Given the description of an element on the screen output the (x, y) to click on. 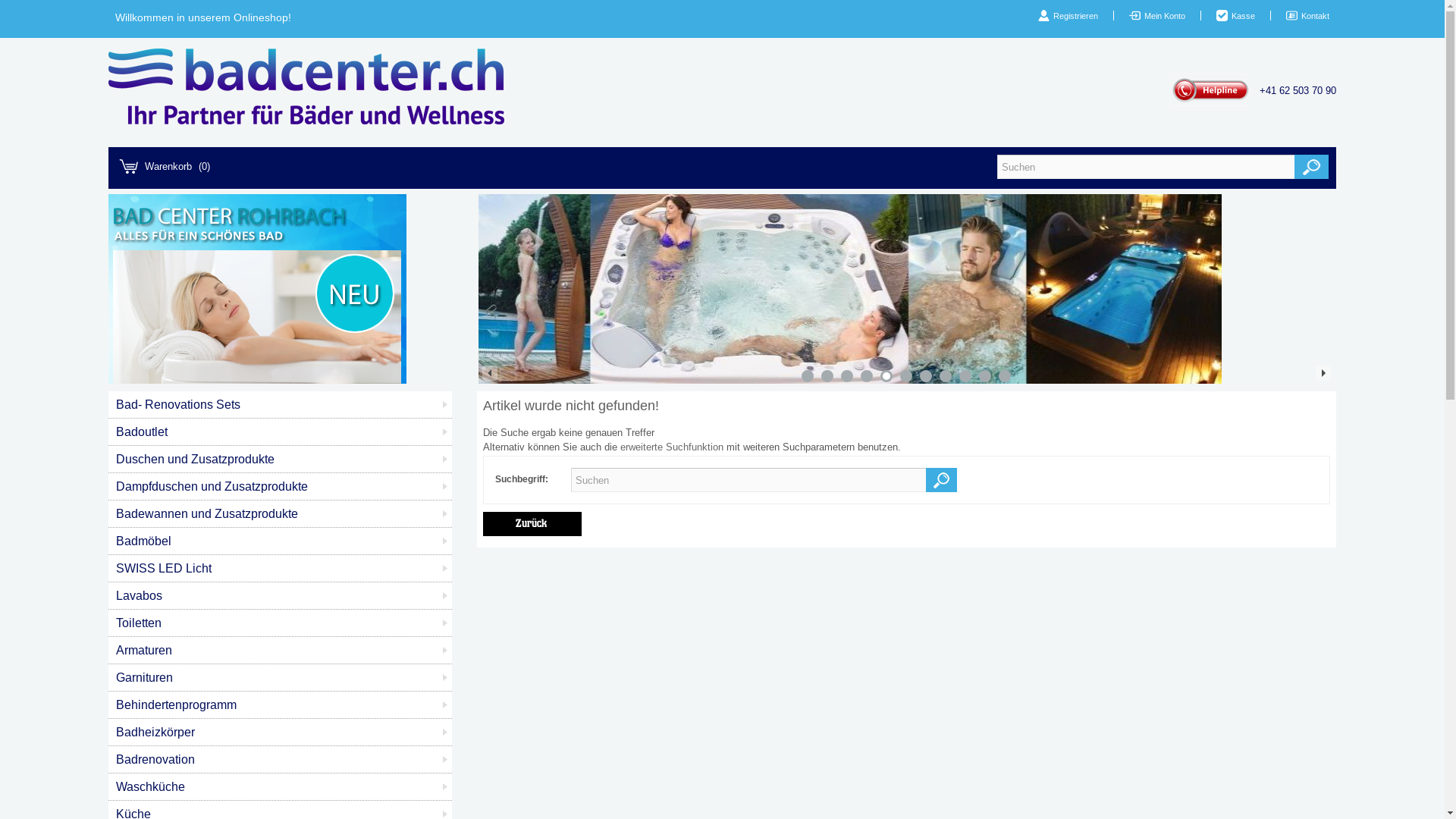
Behindertenprogramm Element type: text (279, 704)
Registrieren Element type: text (1075, 15)
3 Element type: text (846, 376)
Mein Konto Element type: text (1164, 15)
Garnituren Element type: text (279, 677)
11 Element type: text (1004, 376)
Badewannen und Zusatzprodukte Element type: text (279, 513)
1 Element type: text (807, 376)
Duschen und Zusatzprodukte Element type: text (279, 459)
Dampfduschen und Zusatzprodukte Element type: text (279, 486)
7 Element type: text (925, 376)
Neue Produkte im Badcenter.ch Element type: hover (257, 379)
Prev Element type: text (489, 372)
Bad- Renovations Sets Element type: text (279, 404)
erweiterte Suchfunktion Element type: text (671, 446)
SWISS LED Licht Element type: text (279, 568)
Suchen Element type: hover (941, 479)
2 Element type: text (827, 376)
9 Element type: text (965, 376)
Kasse Element type: text (1243, 15)
Armaturen Element type: text (279, 650)
Kontakt Element type: text (1315, 15)
5 Element type: text (886, 376)
4 Element type: text (866, 376)
Toiletten Element type: text (279, 623)
Badoutlet Element type: text (279, 431)
Warenkorb (0) Element type: text (164, 166)
6 Element type: text (906, 376)
Lavabos Element type: text (279, 595)
10 Element type: text (985, 376)
Suchen Element type: hover (1311, 166)
8 Element type: text (945, 376)
Badrenovation Element type: text (279, 759)
Next Element type: text (1323, 372)
